Given the description of an element on the screen output the (x, y) to click on. 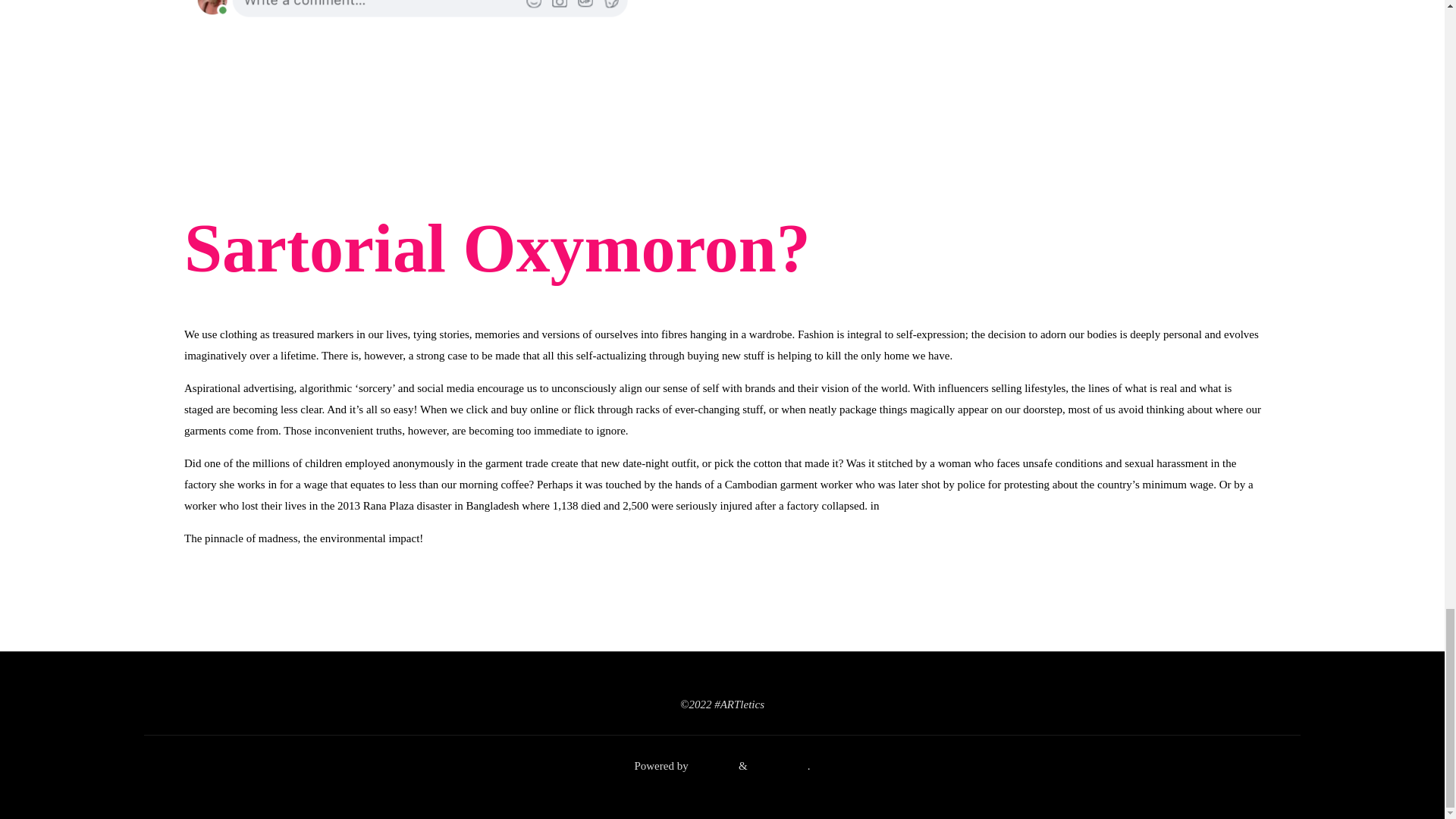
Semantic Personal Publishing Platform (779, 765)
Bravada WordPress Theme by Cryout Creations (712, 765)
